Given the description of an element on the screen output the (x, y) to click on. 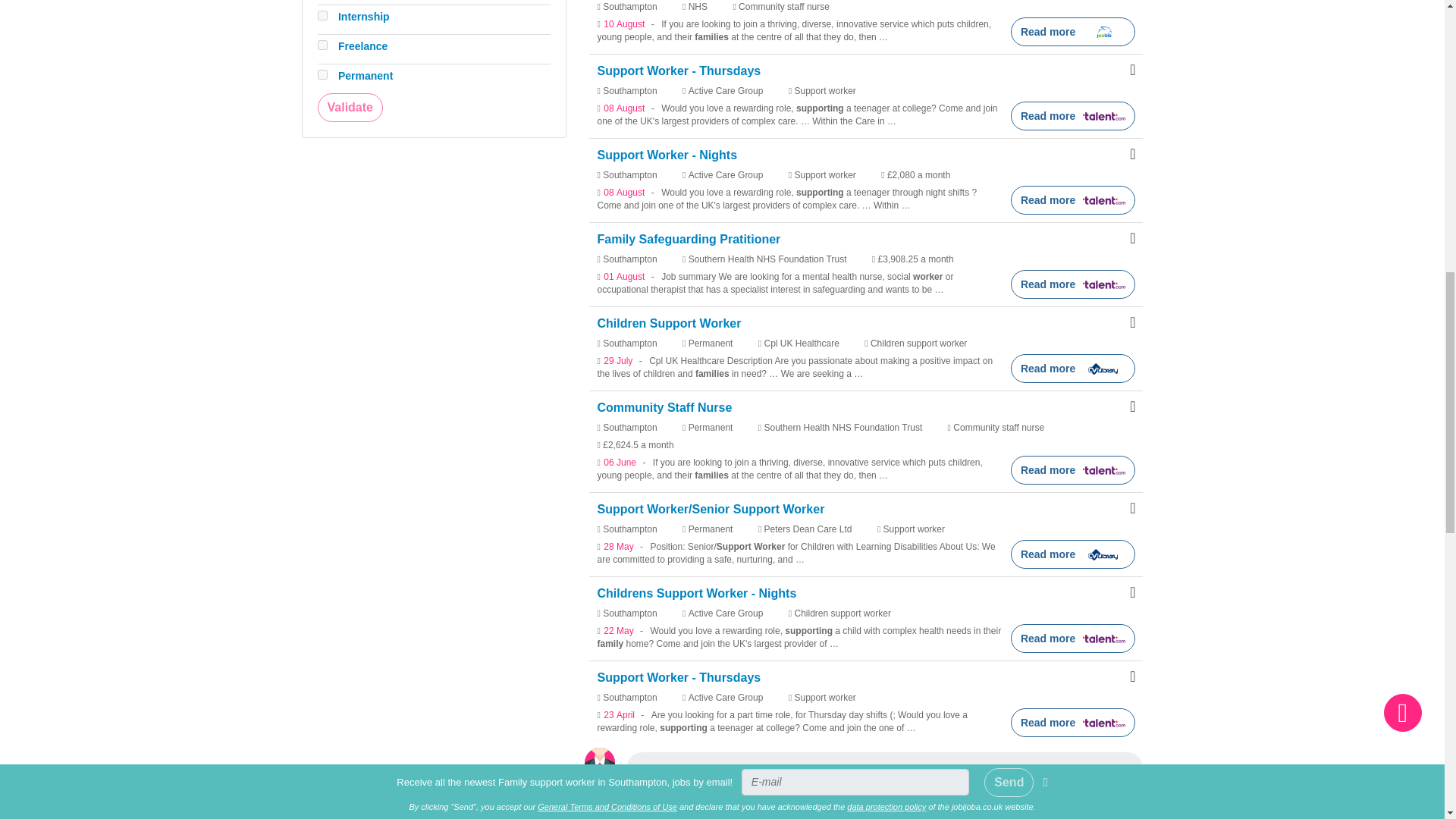
in Southampton jobs (903, 805)
Family support worker jobs (734, 805)
Freelance (321, 44)
Validate (349, 107)
Permanent (321, 74)
Internship (321, 15)
